Given the description of an element on the screen output the (x, y) to click on. 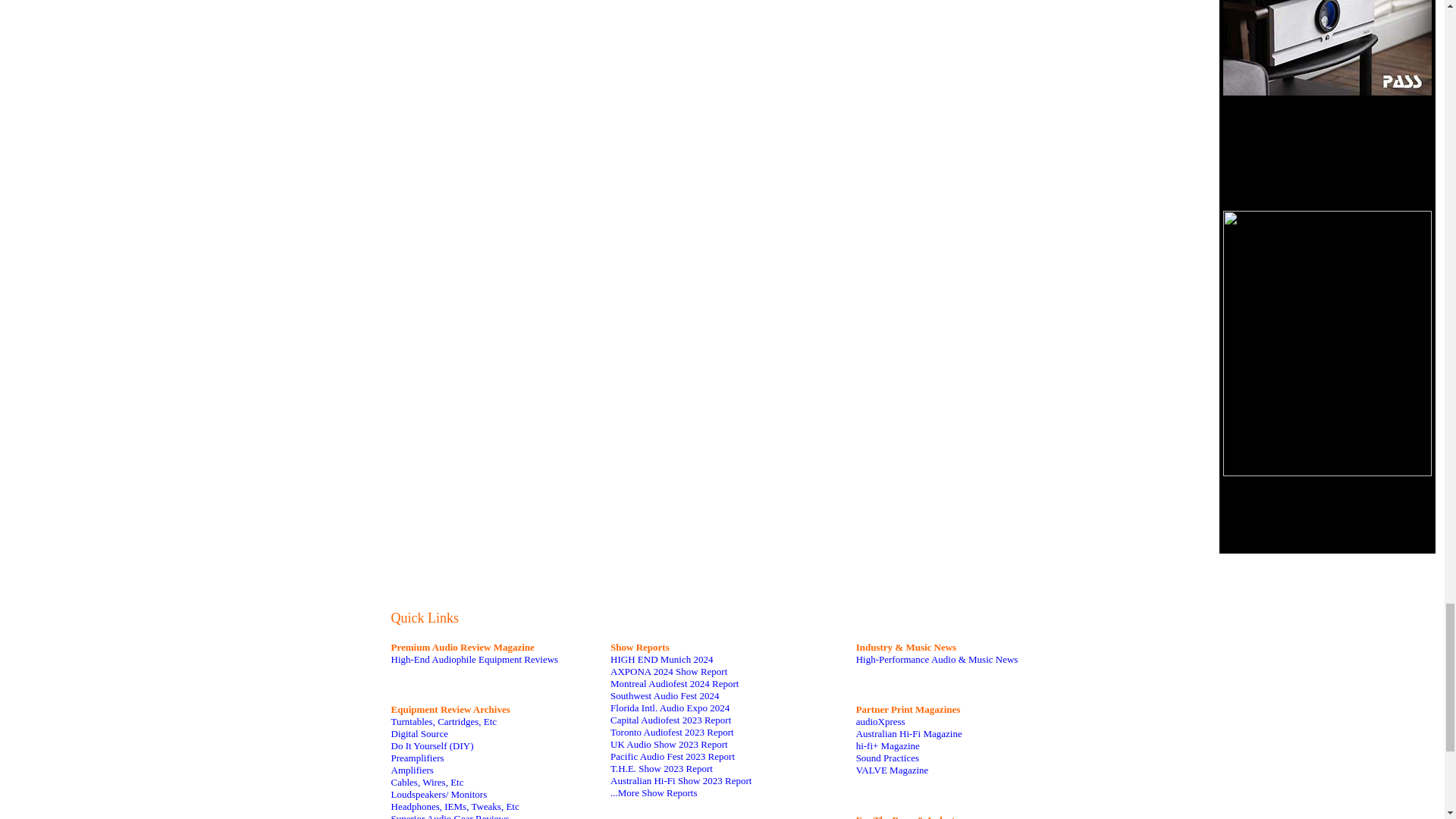
Preamplifiers (417, 757)
High-End Audiophile Equipment Reviews (475, 659)
Turntables, Cartridges, Etc (444, 721)
Headphones, IEMs, Tweaks, Etc (455, 806)
HIGH END Munich 2024 (661, 659)
Superior Audio Gear Reviews (450, 816)
Amplifiers (412, 769)
Digital Source (419, 733)
Cables, Wires, Etc (427, 781)
